Given the description of an element on the screen output the (x, y) to click on. 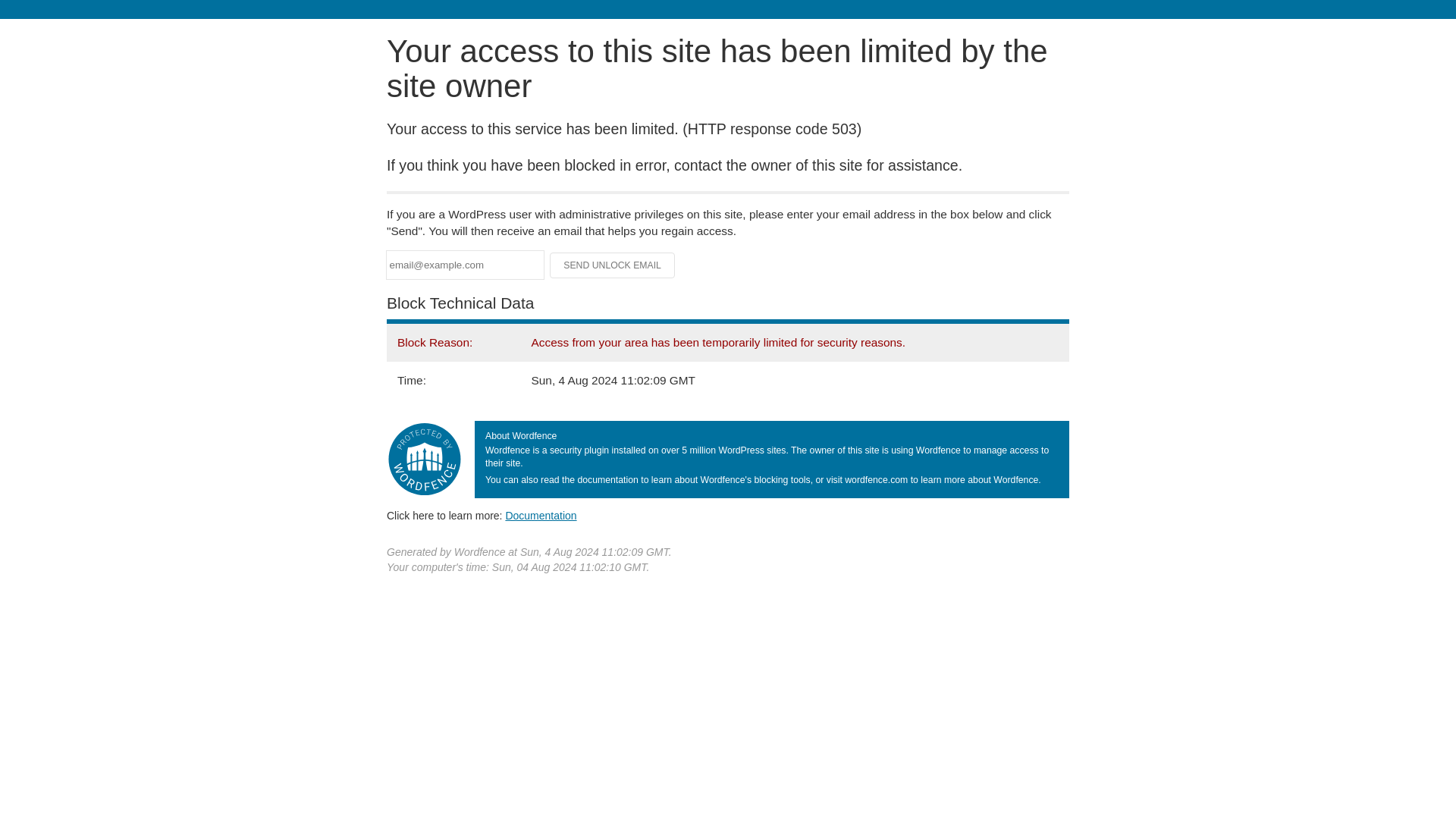
Send Unlock Email (612, 265)
Send Unlock Email (612, 265)
Documentation (540, 515)
